Given the description of an element on the screen output the (x, y) to click on. 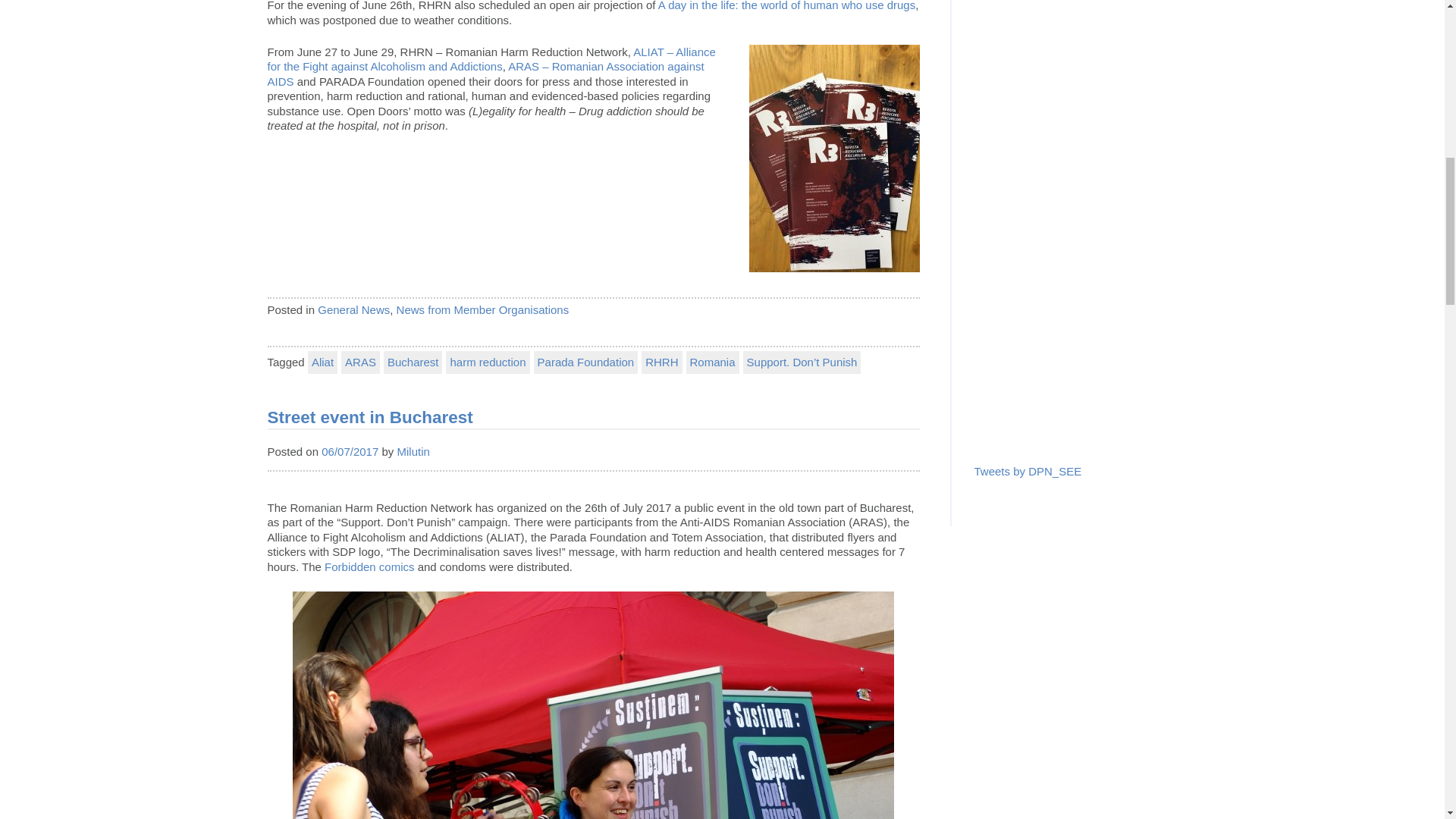
News from Member Organisations (482, 309)
Bucharest (413, 362)
Aliat (322, 362)
harm reduction (487, 362)
Parada Foundation (586, 362)
A day in the life: the world of human who use drugs (786, 5)
ARAS (360, 362)
General News (353, 309)
